Given the description of an element on the screen output the (x, y) to click on. 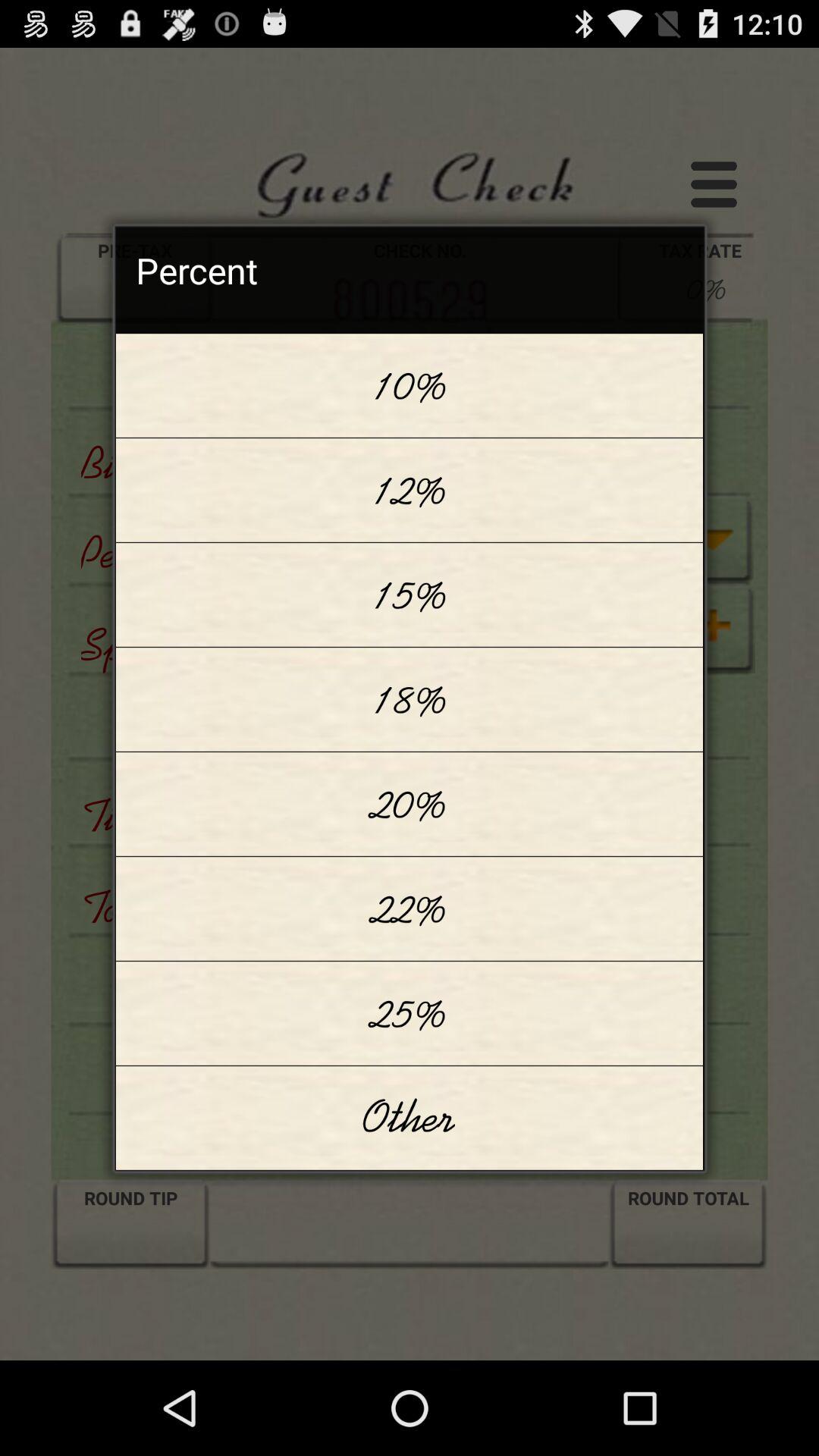
press icon below 18% app (409, 803)
